Given the description of an element on the screen output the (x, y) to click on. 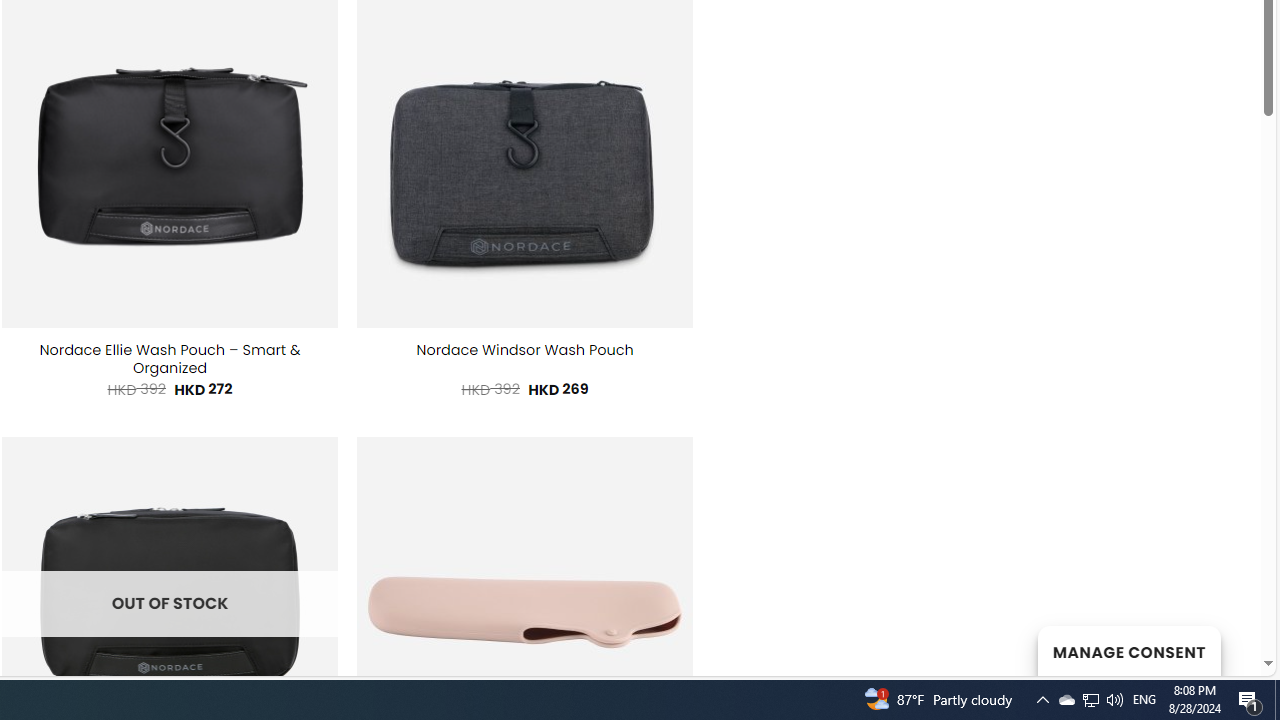
Nordace Windsor Wash Pouch (524, 350)
MANAGE CONSENT (1128, 650)
